Given the description of an element on the screen output the (x, y) to click on. 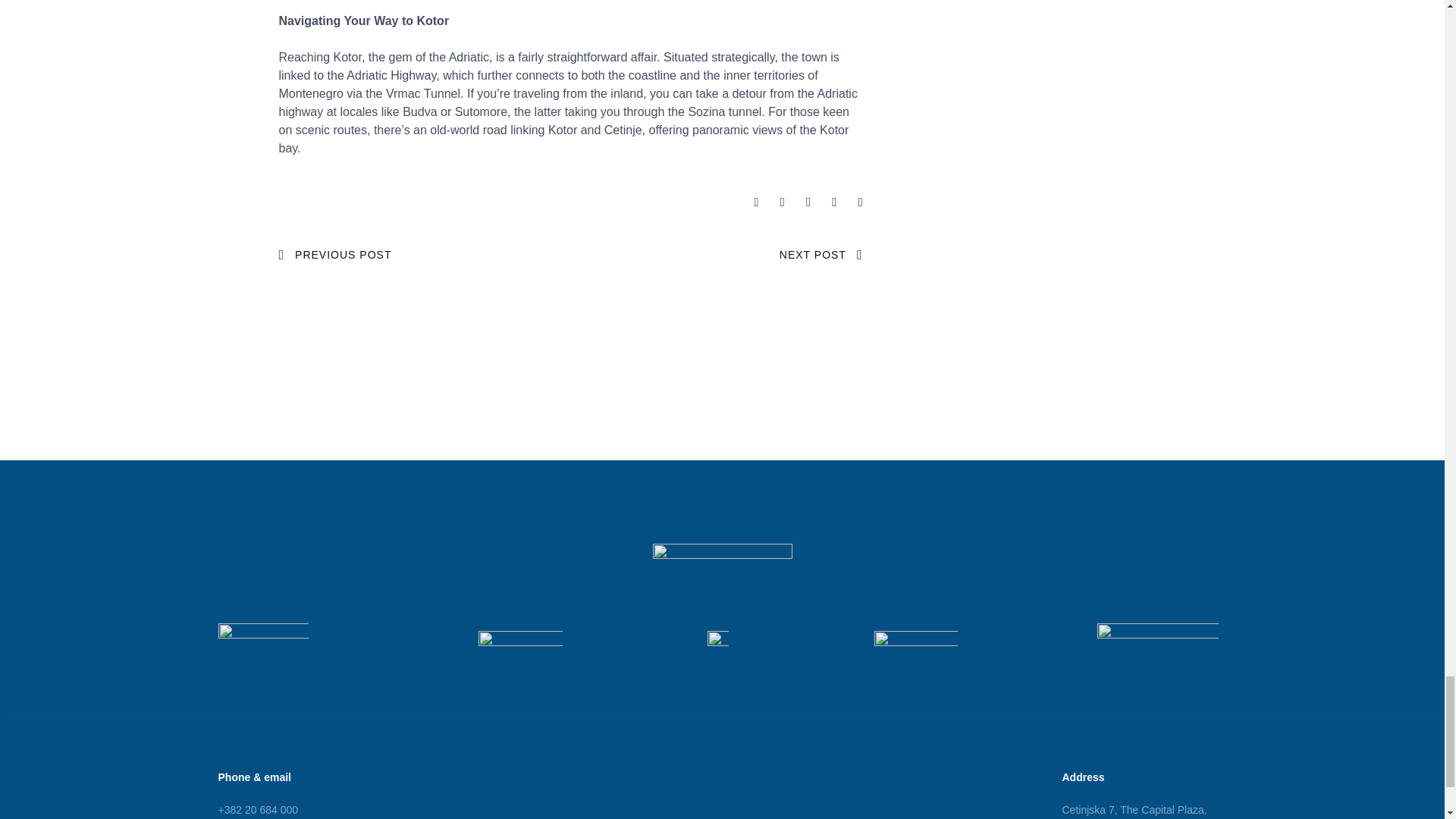
NEXT POST (820, 254)
PREVIOUS POST (335, 254)
